Given the description of an element on the screen output the (x, y) to click on. 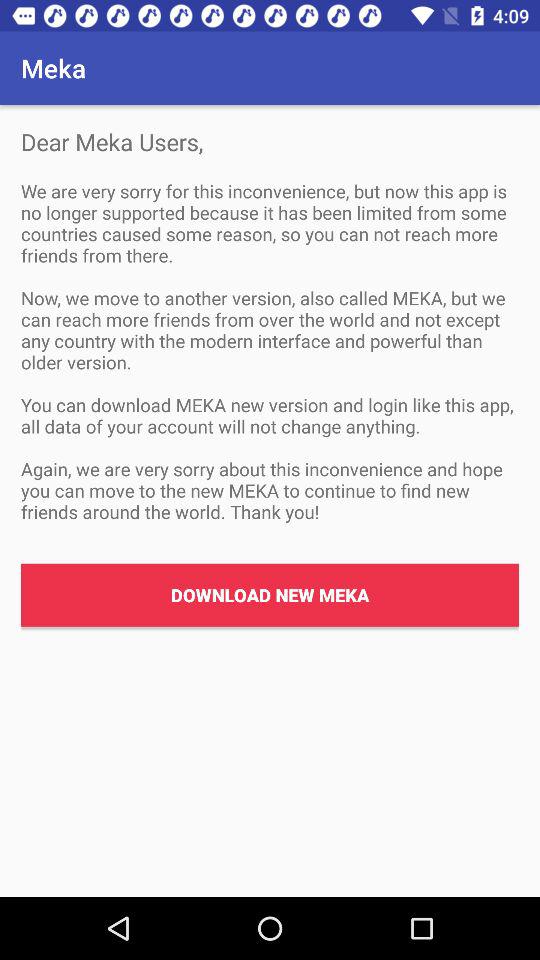
press icon below we are very item (270, 594)
